Given the description of an element on the screen output the (x, y) to click on. 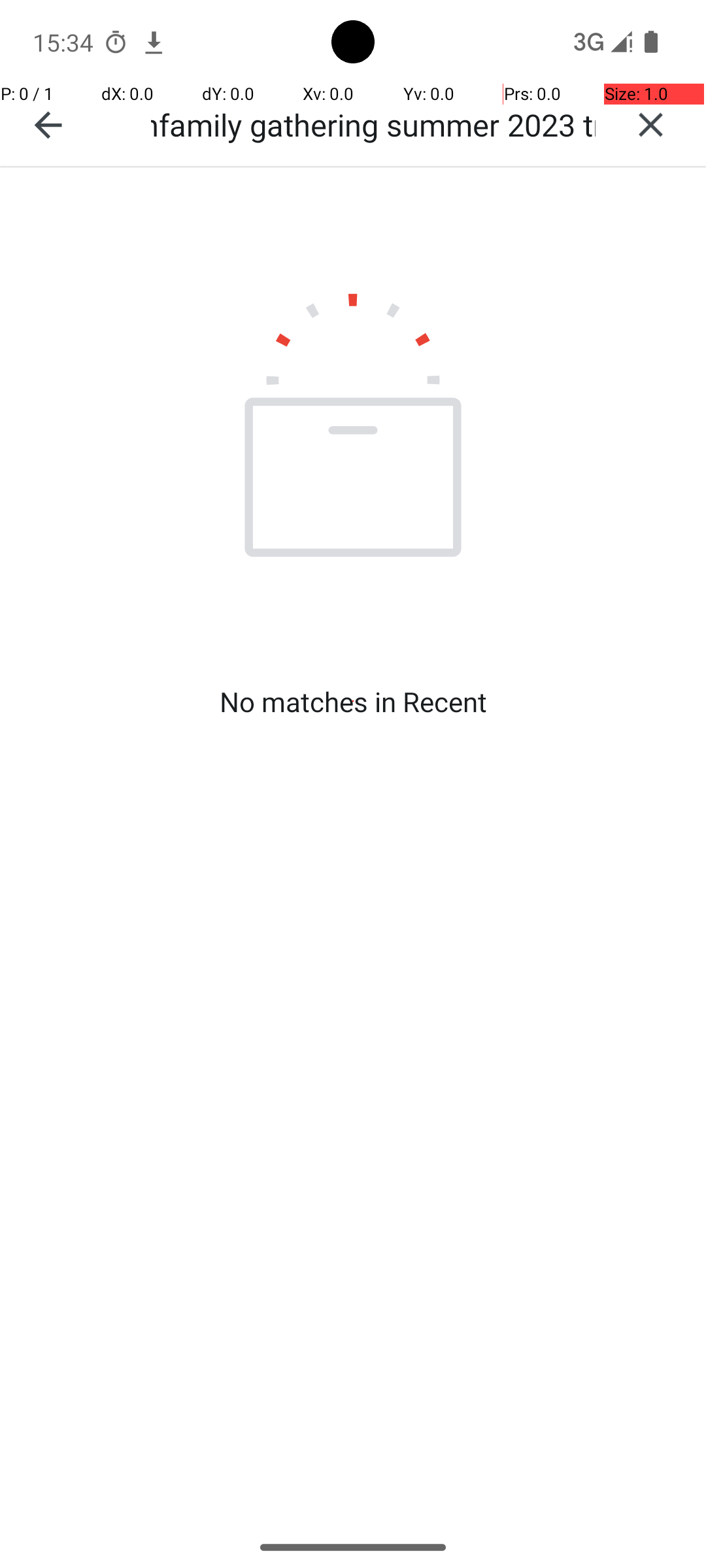
vacation photosbeachfamily gathering summer 2023 trip memories 2023 Element type: android.widget.AutoCompleteTextView (373, 124)
